Given the description of an element on the screen output the (x, y) to click on. 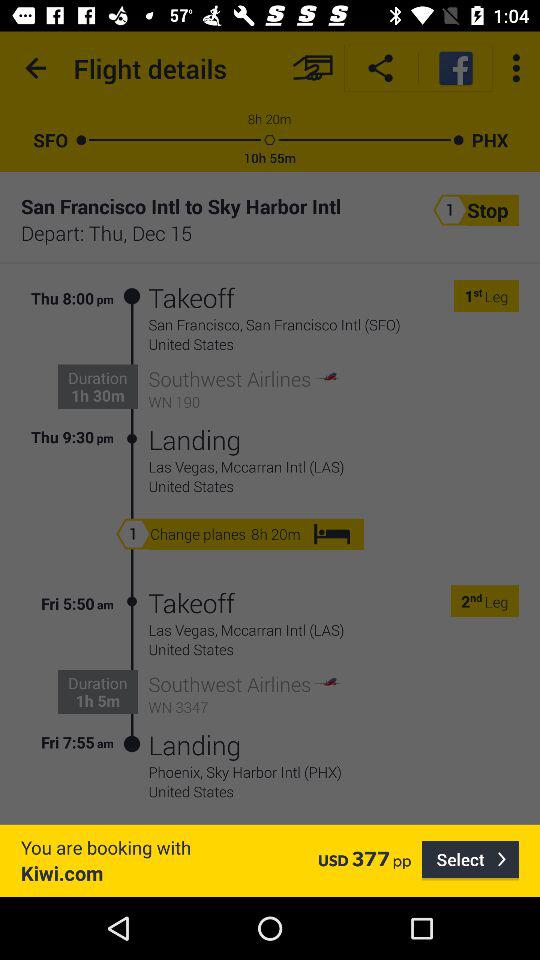
scroll to the select icon (470, 860)
